Given the description of an element on the screen output the (x, y) to click on. 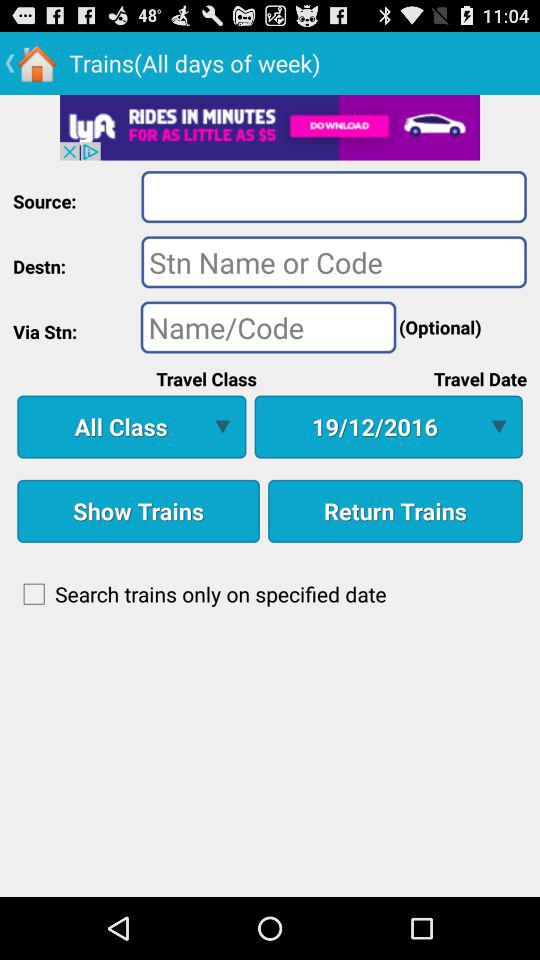
advertisement (270, 127)
